Given the description of an element on the screen output the (x, y) to click on. 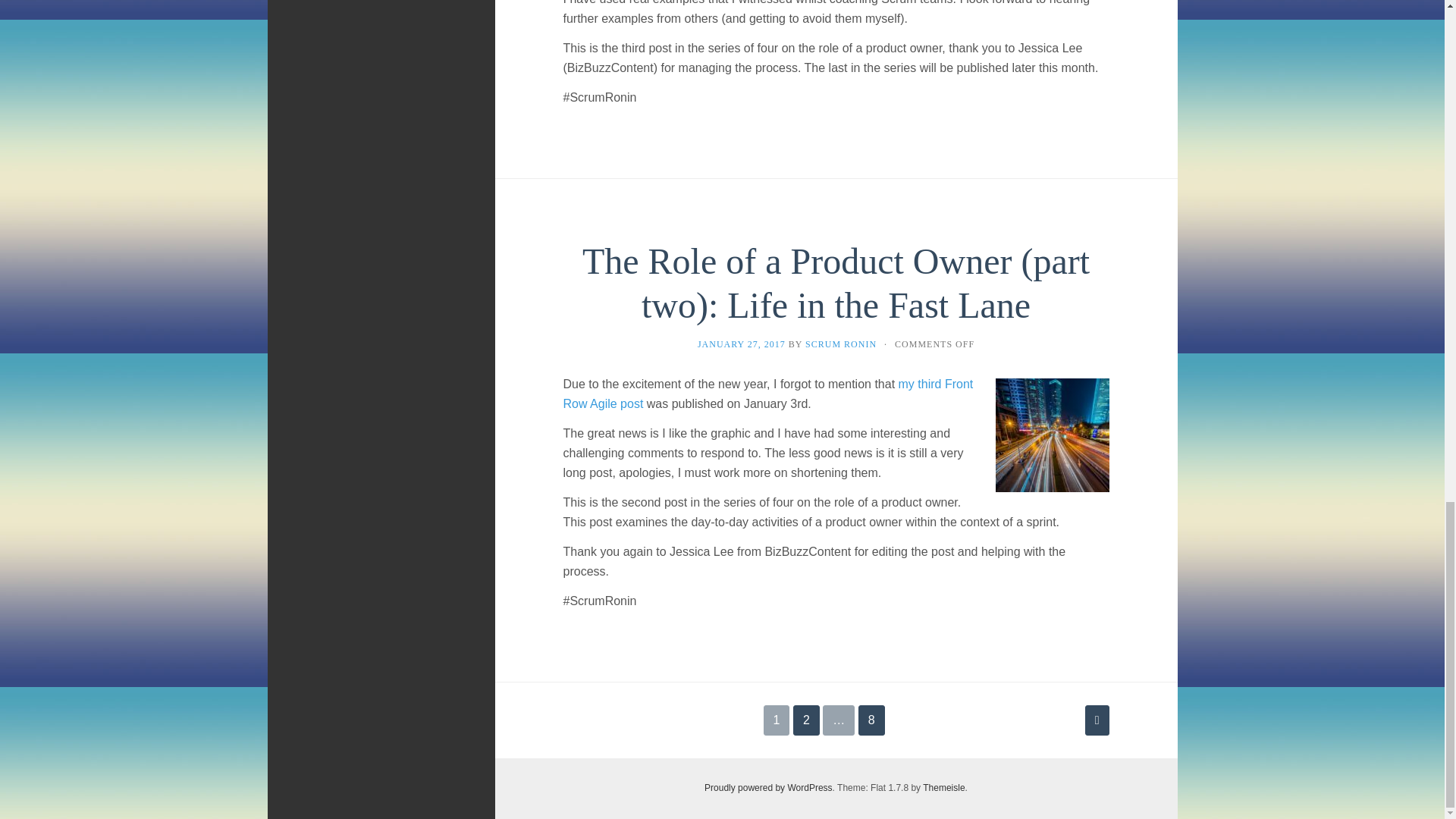
Semantic Personal Publishing Platform (768, 787)
Flat WordPress Theme (943, 787)
